Given the description of an element on the screen output the (x, y) to click on. 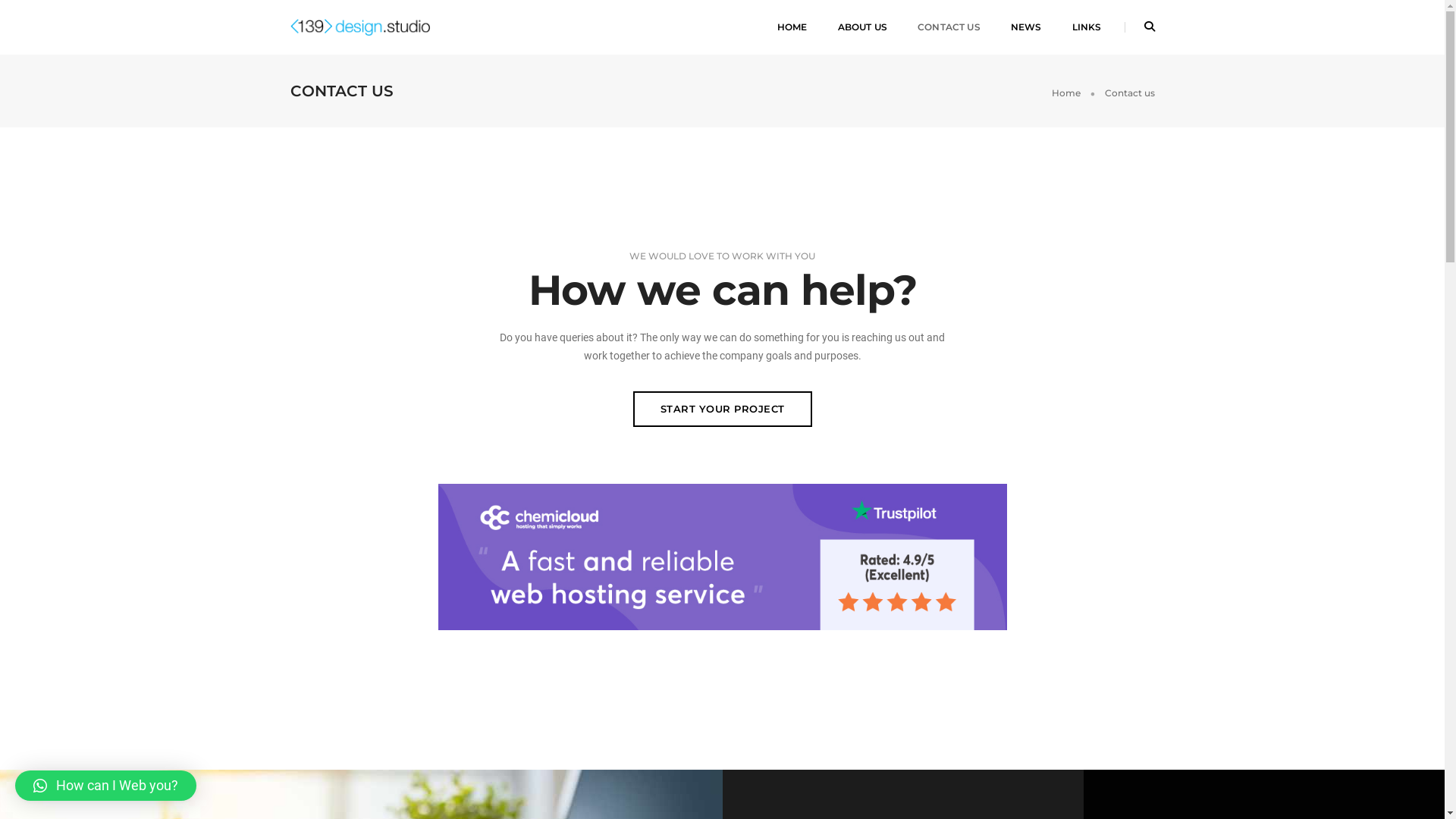
CONTACT US Element type: text (948, 27)
Home Element type: text (1065, 91)
139 Design Studio Aruba Element type: hover (359, 26)
LINKS Element type: text (1086, 27)
NEWS Element type: text (1025, 27)
ABOUT US Element type: text (862, 27)
How can I Web you? Element type: text (105, 785)
HOME Element type: text (792, 27)
ChemiCloud - Excellent Web Hosting Services Element type: hover (722, 556)
START YOUR PROJECT Element type: text (721, 408)
